Given the description of an element on the screen output the (x, y) to click on. 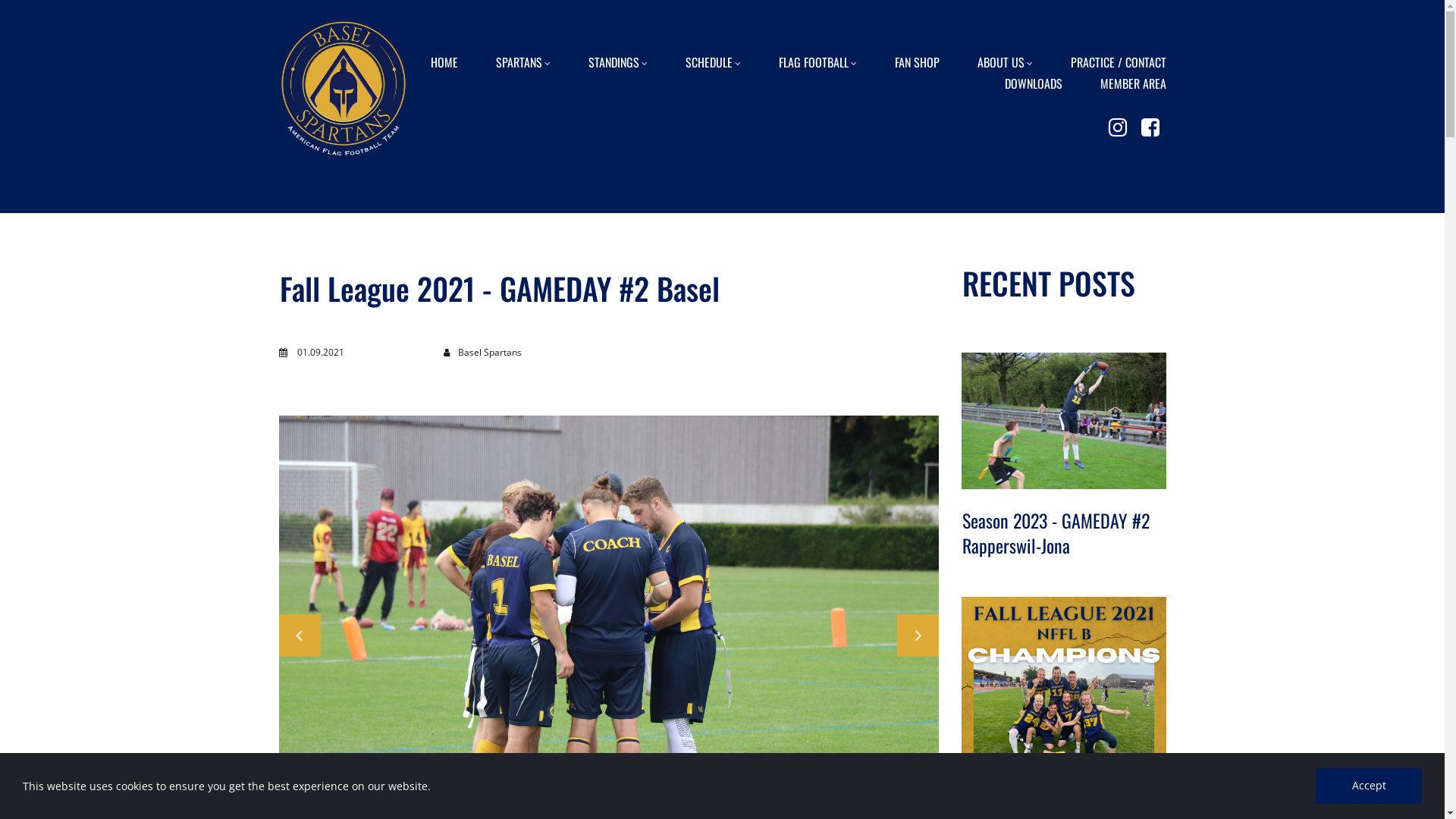
SCHEDULE Element type: text (712, 59)
Prev Element type: text (299, 634)
FAN SHOP Element type: text (916, 59)
FLAG FOOTBALL Element type: text (817, 59)
HOME Element type: text (444, 59)
SPARTANS Element type: text (522, 59)
Next Element type: text (917, 634)
STANDINGS Element type: text (617, 59)
Accept Element type: text (1368, 785)
CHAMPIONS 2021 Element type: hover (1063, 698)
PRACTICE / CONTACT Element type: text (1118, 59)
ABOUT US Element type: text (1004, 59)
DOWNLOADS Element type: text (1032, 81)
MEMBER AREA Element type: text (1132, 81)
Season 2023 - GAMEDAY #2 Rapperswil-Jona Element type: text (1054, 532)
